Given the description of an element on the screen output the (x, y) to click on. 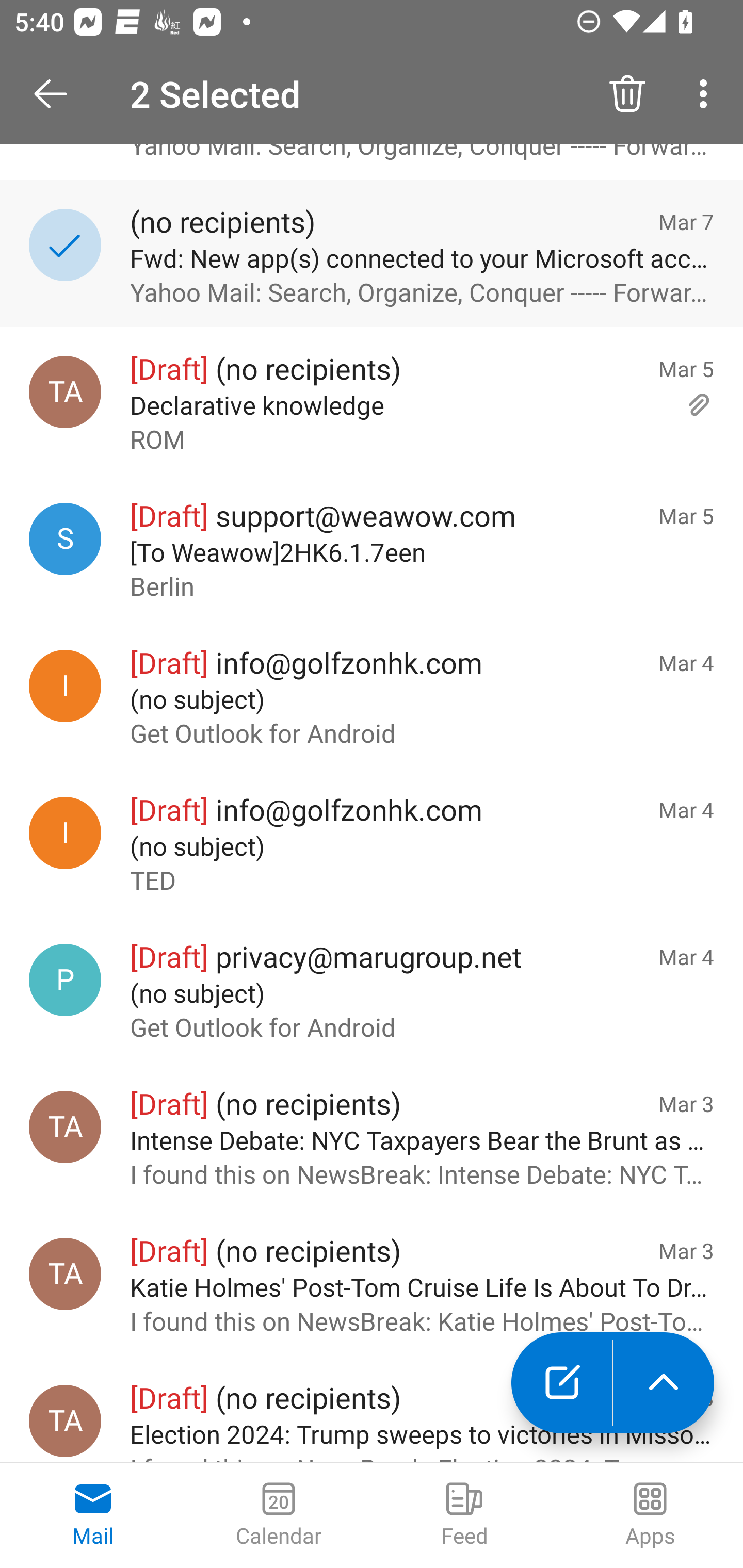
Delete (626, 93)
More options (706, 93)
Open Navigation Drawer (57, 94)
Test Appium, testappium002@outlook.com (64, 391)
support@weawow.com (64, 539)
info@golfzonhk.com (64, 685)
info@golfzonhk.com (64, 832)
privacy@marugroup.net (64, 979)
Test Appium, testappium002@outlook.com (64, 1127)
Test Appium, testappium002@outlook.com (64, 1273)
New mail (561, 1382)
launch the extended action menu (663, 1382)
Test Appium, testappium002@outlook.com (64, 1420)
Calendar (278, 1515)
Feed (464, 1515)
Apps (650, 1515)
